Given the description of an element on the screen output the (x, y) to click on. 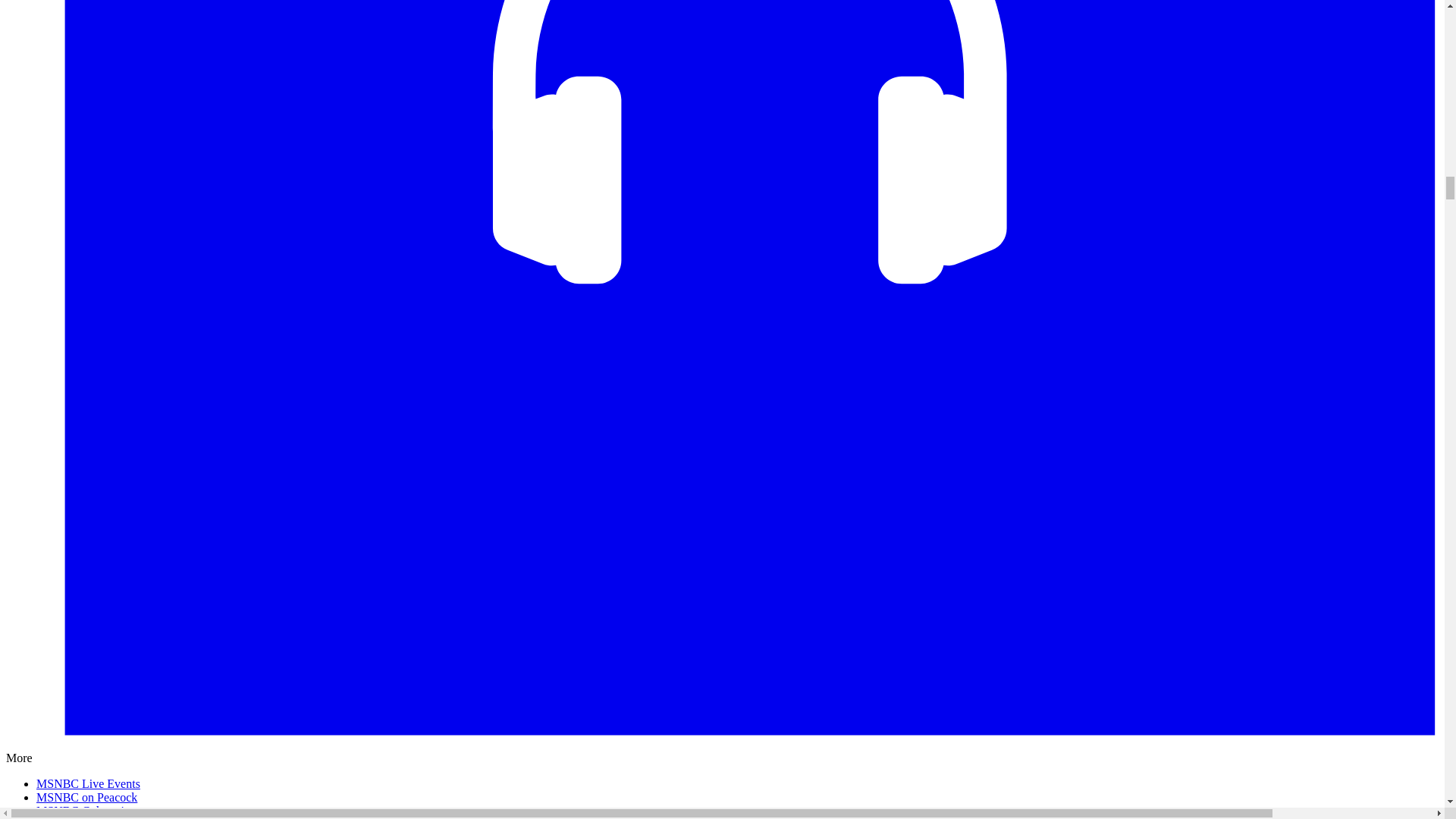
MSNBC on Peacock (86, 797)
MSNBC Live Events (87, 783)
